Given the description of an element on the screen output the (x, y) to click on. 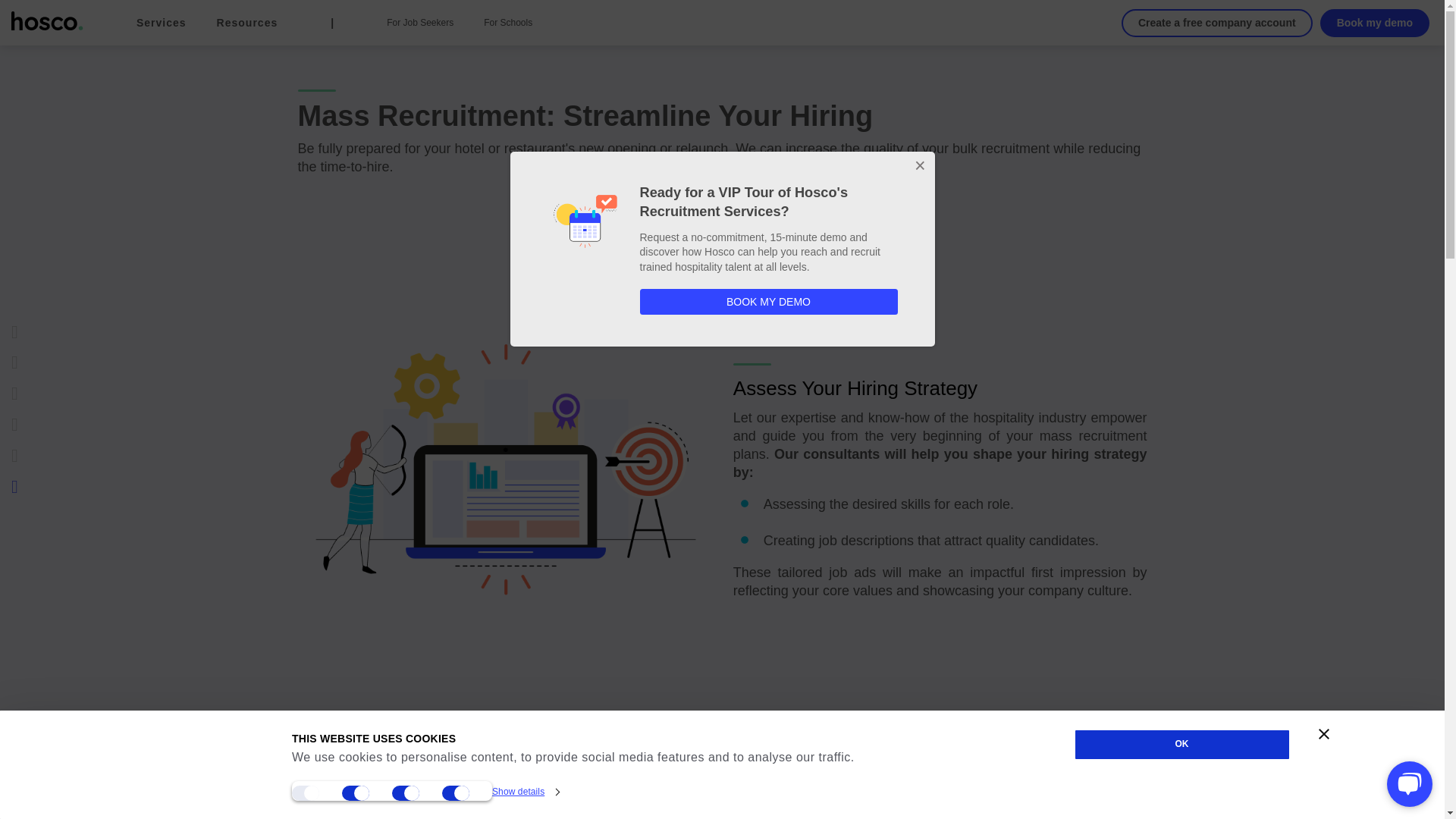
Show details (525, 791)
